Given the description of an element on the screen output the (x, y) to click on. 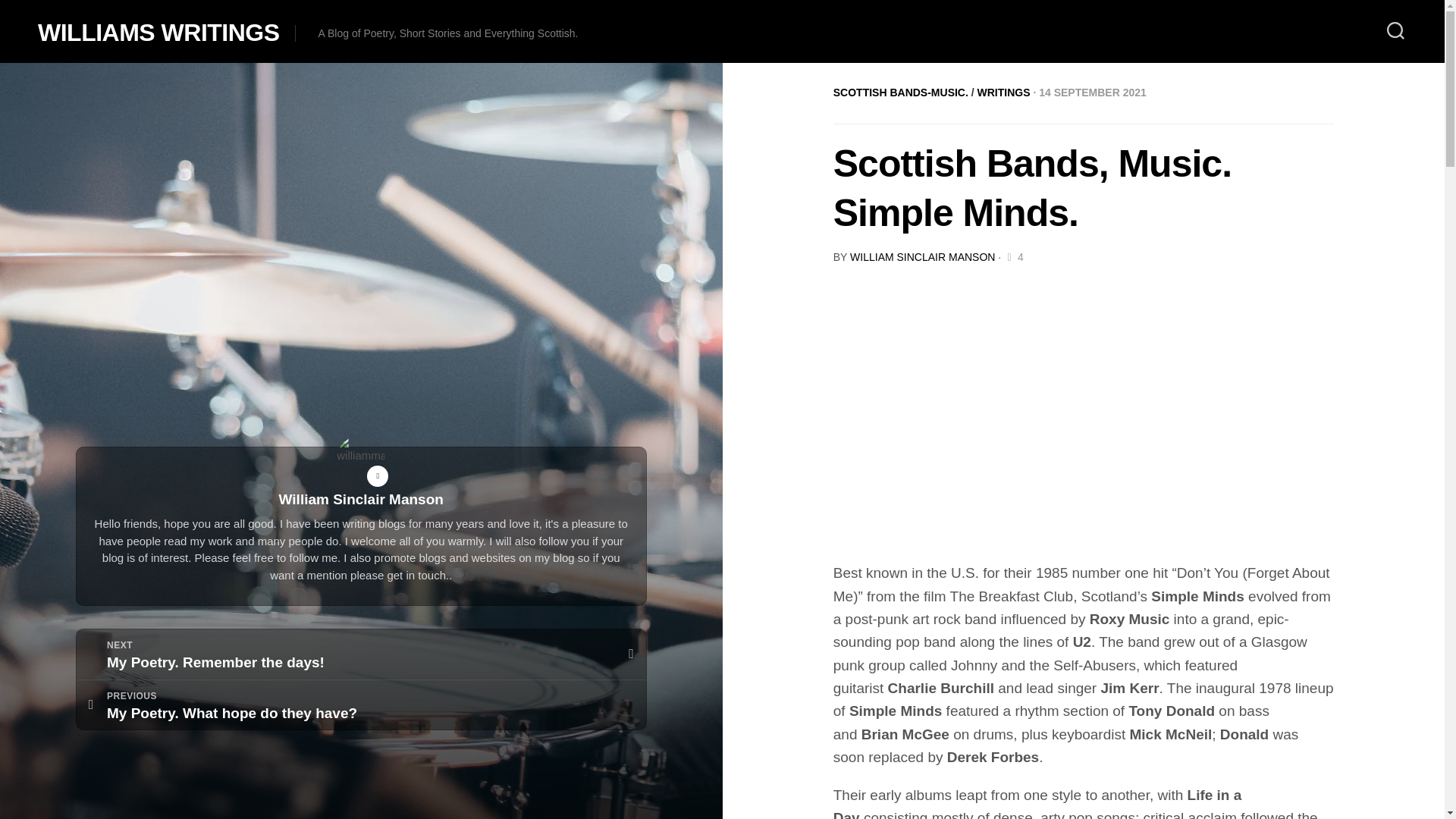
WILLIAM SINCLAIR MANSON (922, 256)
4 (1013, 256)
WILLIAMS WRITINGS (158, 32)
SCOTTISH BANDS-MUSIC. (361, 704)
WRITINGS (900, 92)
Posts by William Sinclair Manson (361, 653)
